Given the description of an element on the screen output the (x, y) to click on. 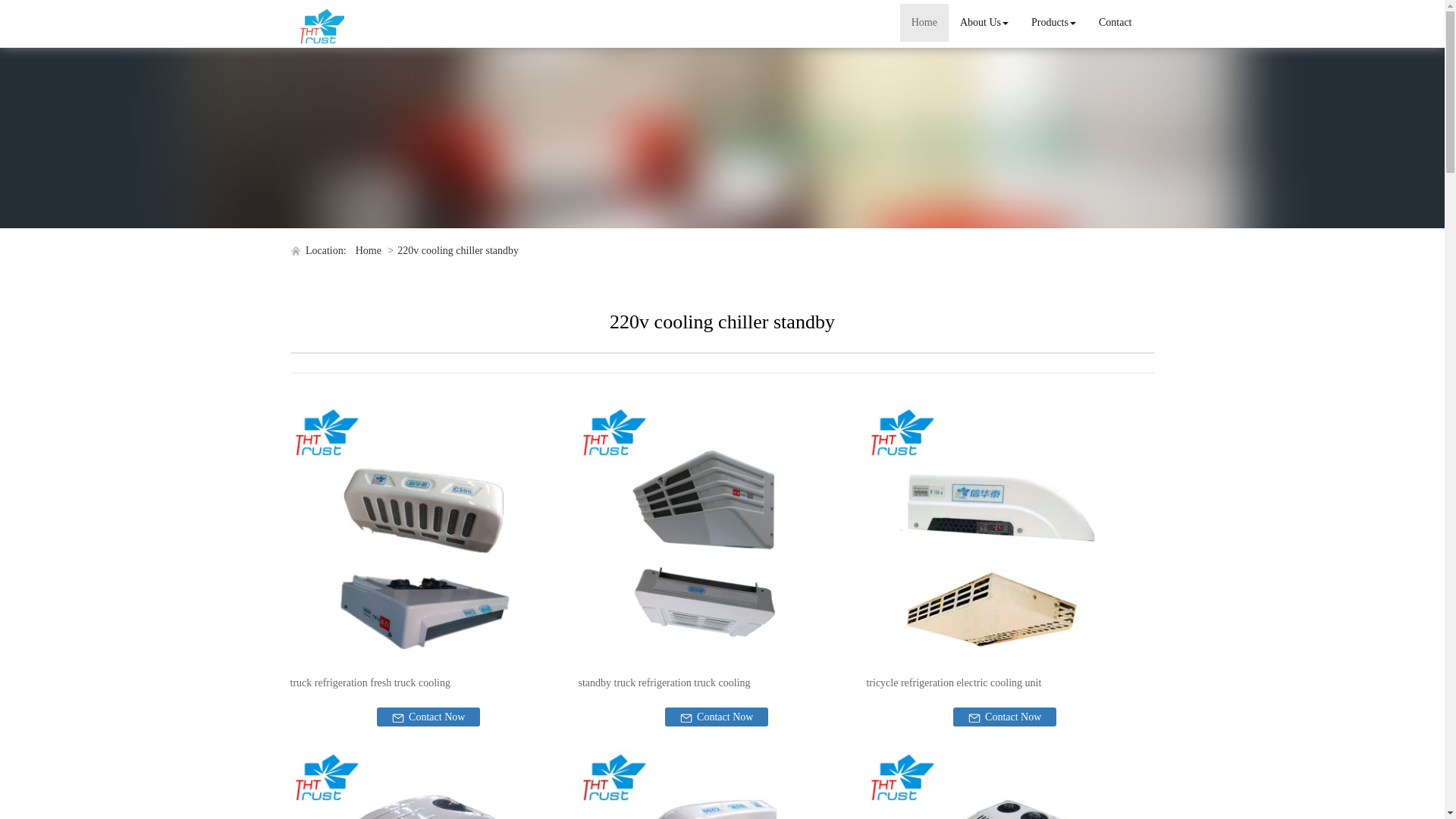
About Us (984, 22)
Contact (1114, 22)
Home (924, 22)
220v cooling chiller standby (457, 250)
Home (368, 250)
Products (1053, 22)
Contact Now (428, 716)
Contact Now (1005, 716)
Contact Now (716, 716)
